Given the description of an element on the screen output the (x, y) to click on. 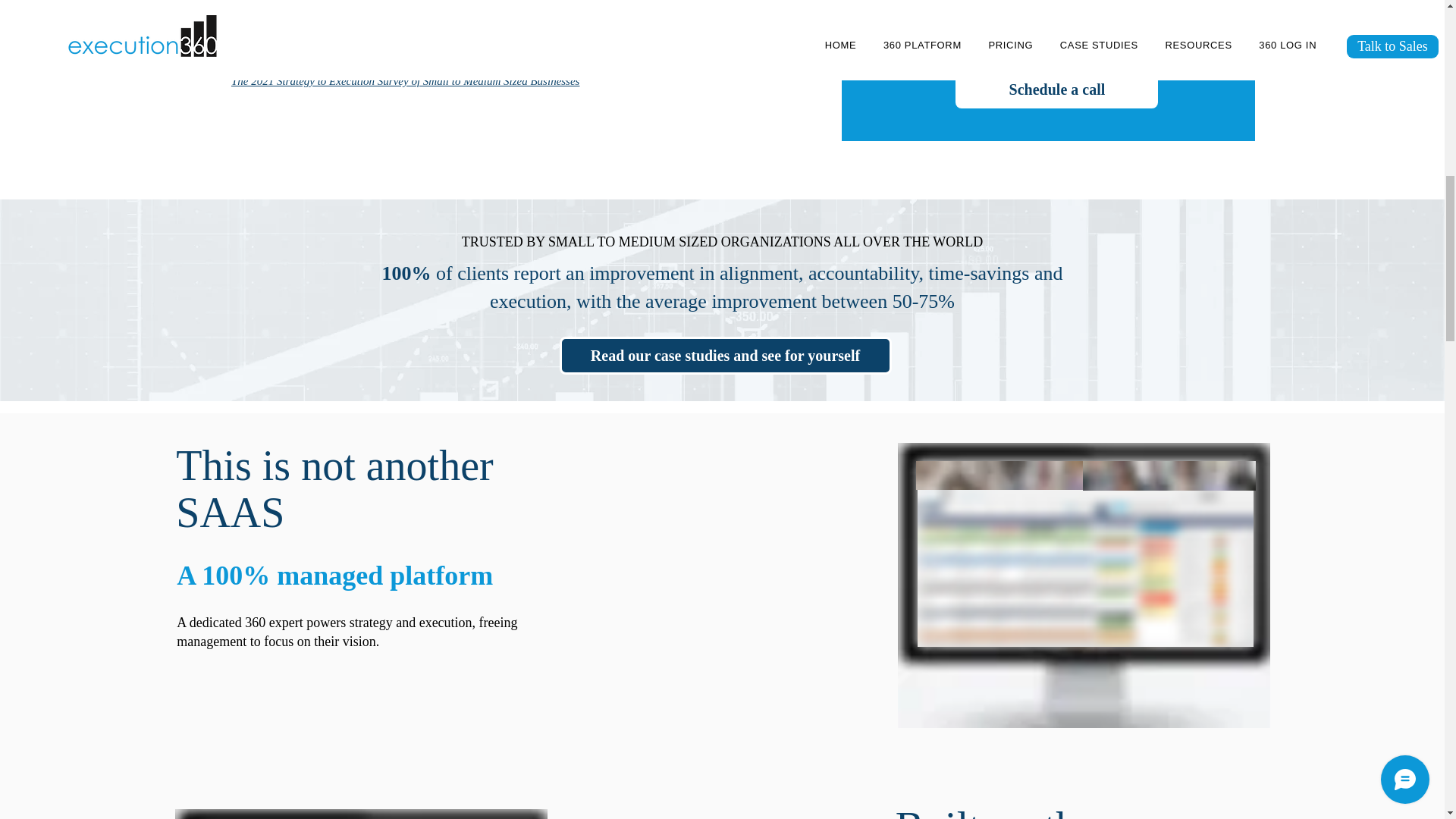
Schedule a call (1056, 89)
Read our case studies and see for yourself (725, 355)
